Given the description of an element on the screen output the (x, y) to click on. 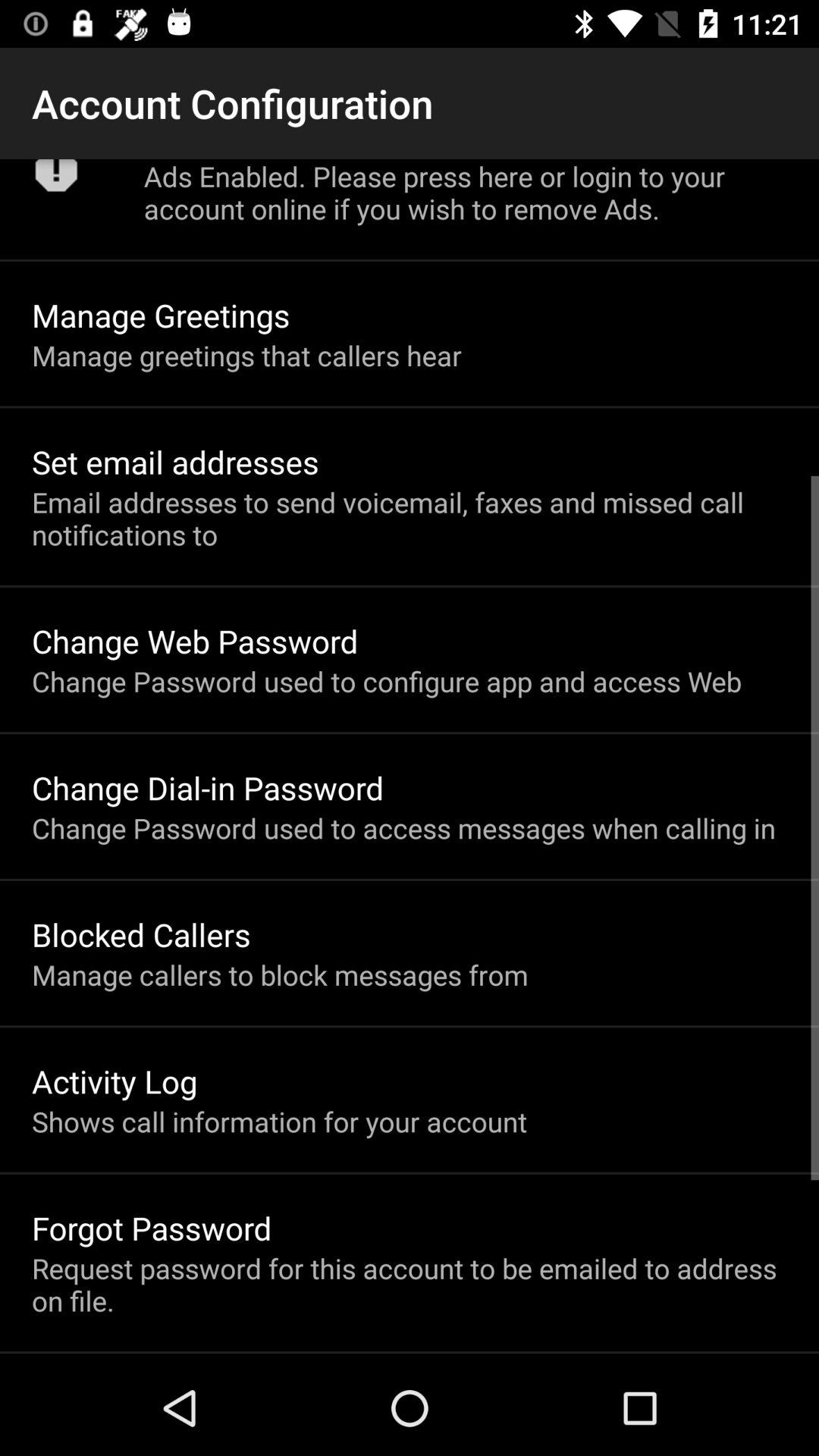
select shows call information icon (279, 1121)
